Given the description of an element on the screen output the (x, y) to click on. 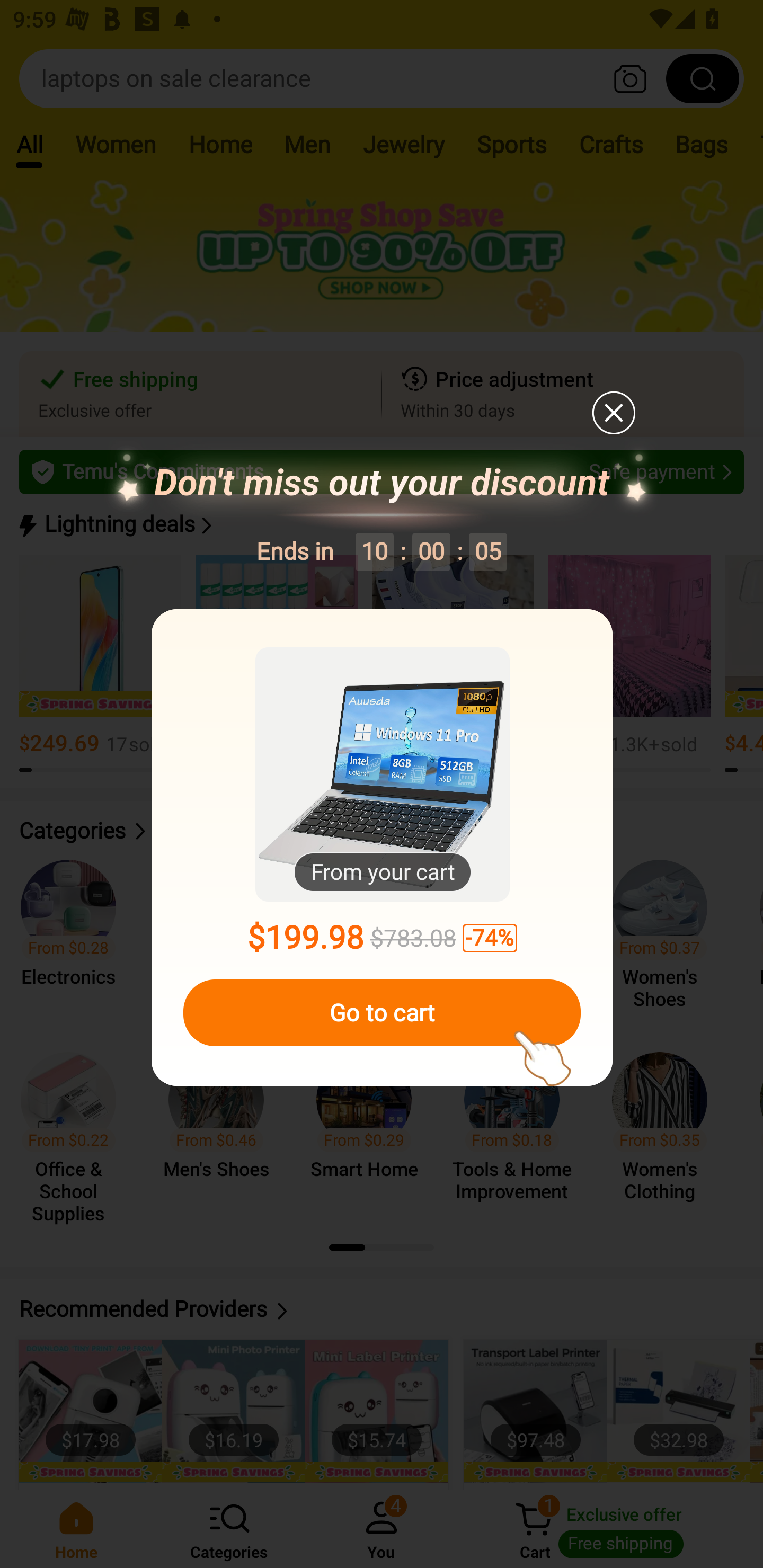
 (612, 412)
From your cart $199.98 $783.08 -74% Go to cart (381, 847)
Go to cart (381, 1012)
